Given the description of an element on the screen output the (x, y) to click on. 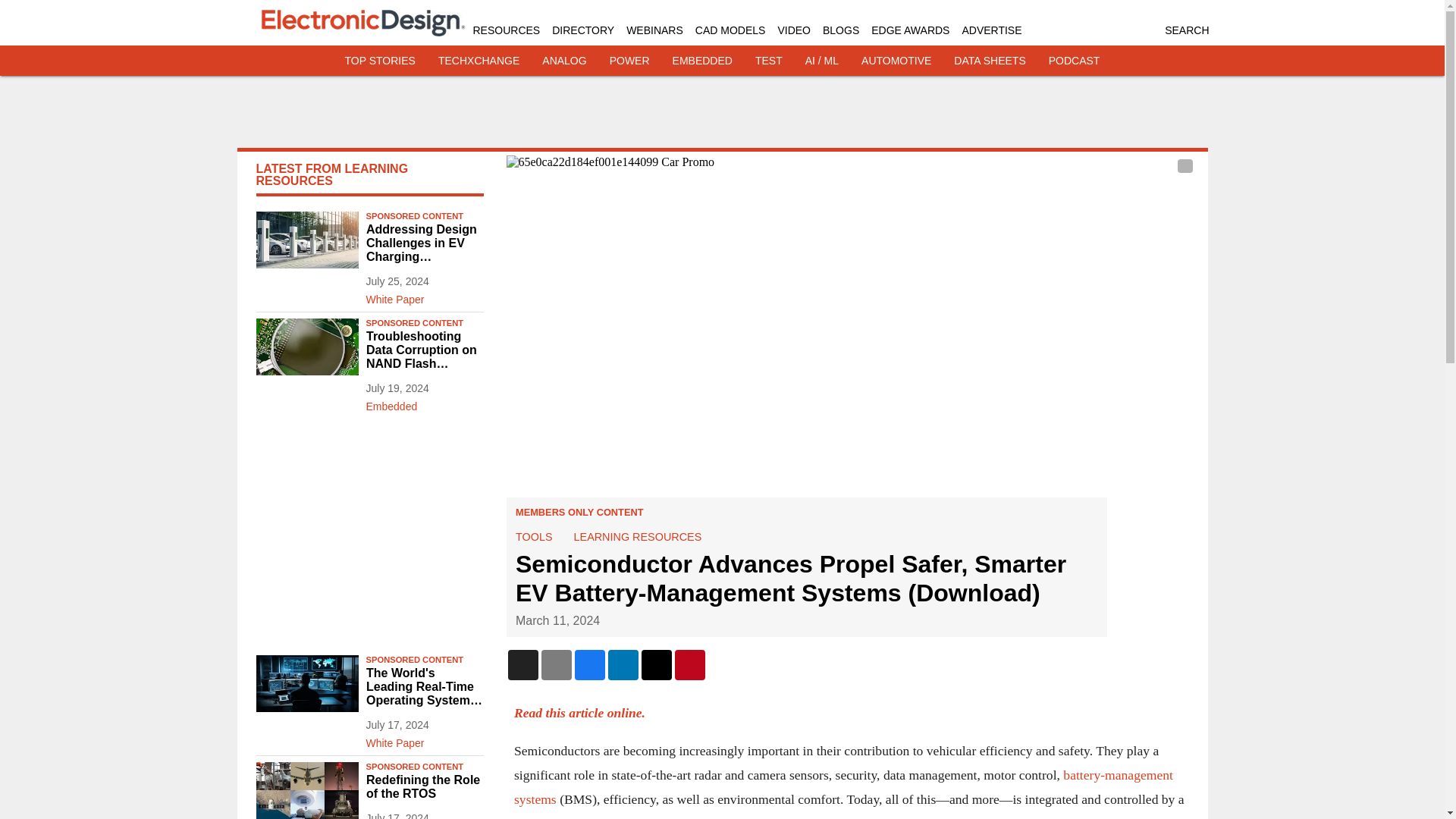
PODCAST (1074, 60)
EMBEDDED (702, 60)
POWER (629, 60)
VIDEO (793, 30)
Troubleshooting Data Corruption on NAND Flash Memory (424, 350)
RESOURCES (506, 30)
EDGE AWARDS (909, 30)
DIRECTORY (582, 30)
ADVERTISE (991, 30)
Addressing Design Challenges in EV Charging Infrastructure (424, 242)
ANALOG (563, 60)
Troubleshooting NAND (307, 346)
TEST (769, 60)
SEARCH (1186, 30)
DATA SHEETS (989, 60)
